Given the description of an element on the screen output the (x, y) to click on. 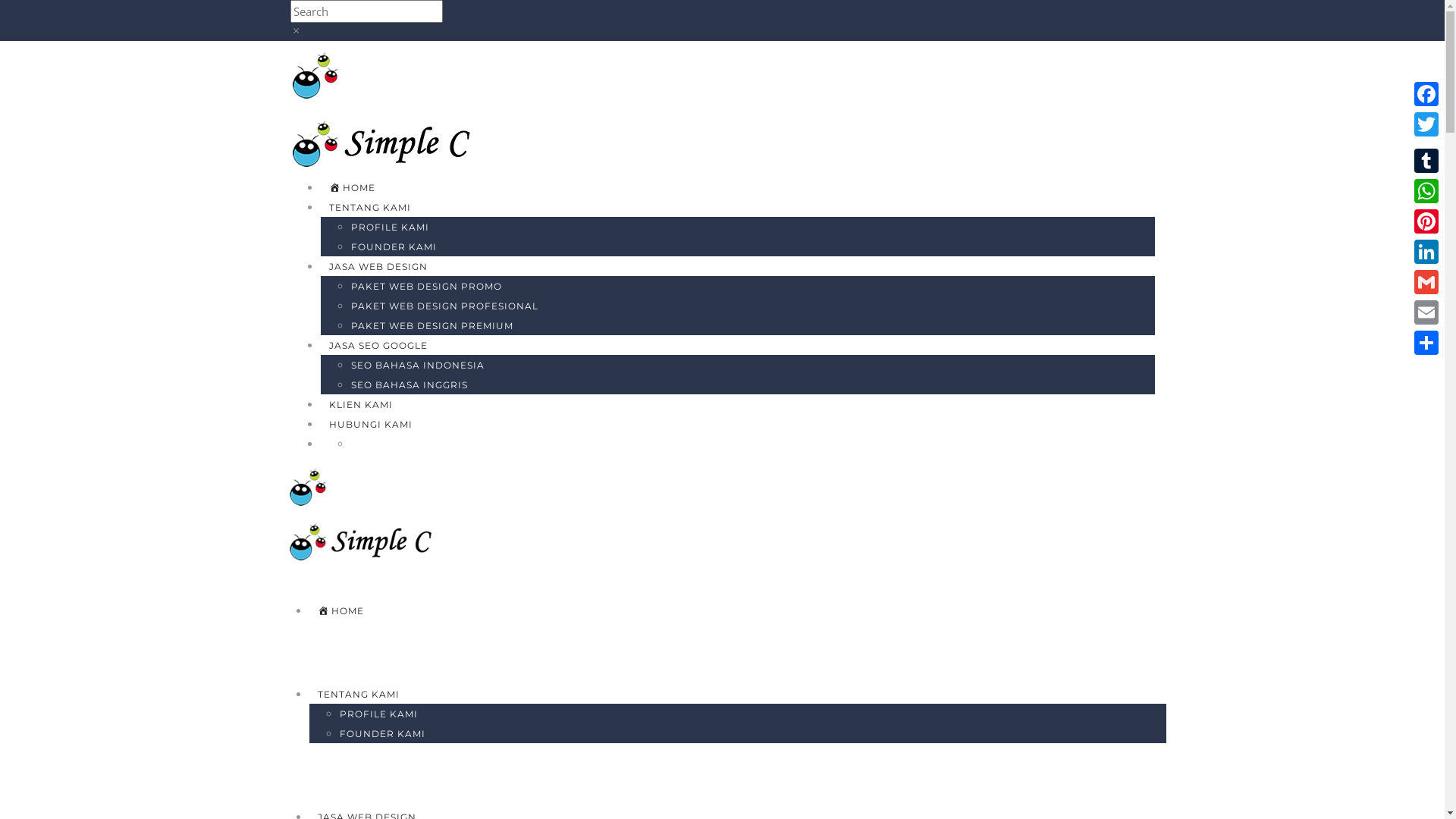
Twitter Element type: text (1426, 124)
Email Element type: text (1426, 312)
TENTANG KAMI Element type: text (358, 693)
Jasa Web Design Murah Element type: hover (367, 539)
Share Element type: text (1426, 342)
FOUNDER KAMI Element type: text (382, 733)
PROFILE KAMI Element type: text (389, 226)
Tumblr Element type: text (1426, 160)
HOME Element type: text (351, 187)
Facebook Element type: text (1426, 93)
PAKET WEB DESIGN PROMO Element type: text (425, 285)
JASA SEO GOOGLE Element type: text (377, 345)
PAKET WEB DESIGN PREMIUM Element type: text (431, 325)
Jasa Web Design Murah Element type: hover (367, 484)
Gmail Element type: text (1426, 281)
KLIEN KAMI Element type: text (360, 404)
Google+ Element type: hover (1426, 142)
LinkedIn Element type: text (1426, 251)
Jasa Web Design Murah Element type: hover (390, 141)
Pinterest Element type: text (1426, 221)
WhatsApp Element type: text (1426, 190)
SEO BAHASA INDONESIA Element type: text (416, 364)
HUBUNGI KAMI Element type: text (370, 423)
PAKET WEB DESIGN PROFESIONAL Element type: text (443, 305)
TENTANG KAMI Element type: text (369, 207)
HOME Element type: text (341, 610)
Jasa Web Design Murah Element type: hover (390, 73)
FOUNDER KAMI Element type: text (393, 246)
SEO BAHASA INGGRIS Element type: text (408, 384)
PROFILE KAMI Element type: text (378, 713)
JASA WEB DESIGN Element type: text (377, 266)
